Given the description of an element on the screen output the (x, y) to click on. 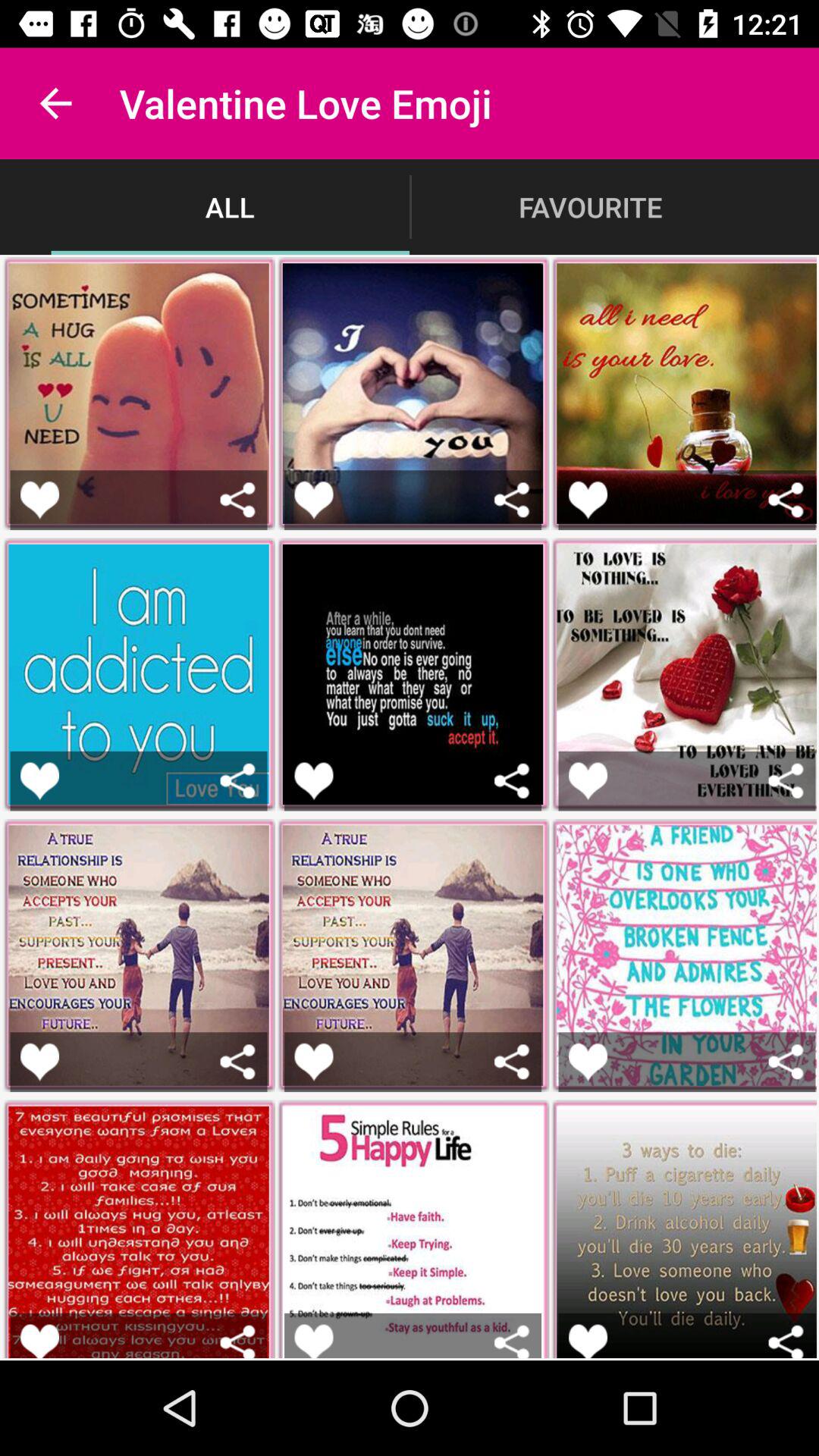
add to favorite (587, 780)
